Given the description of an element on the screen output the (x, y) to click on. 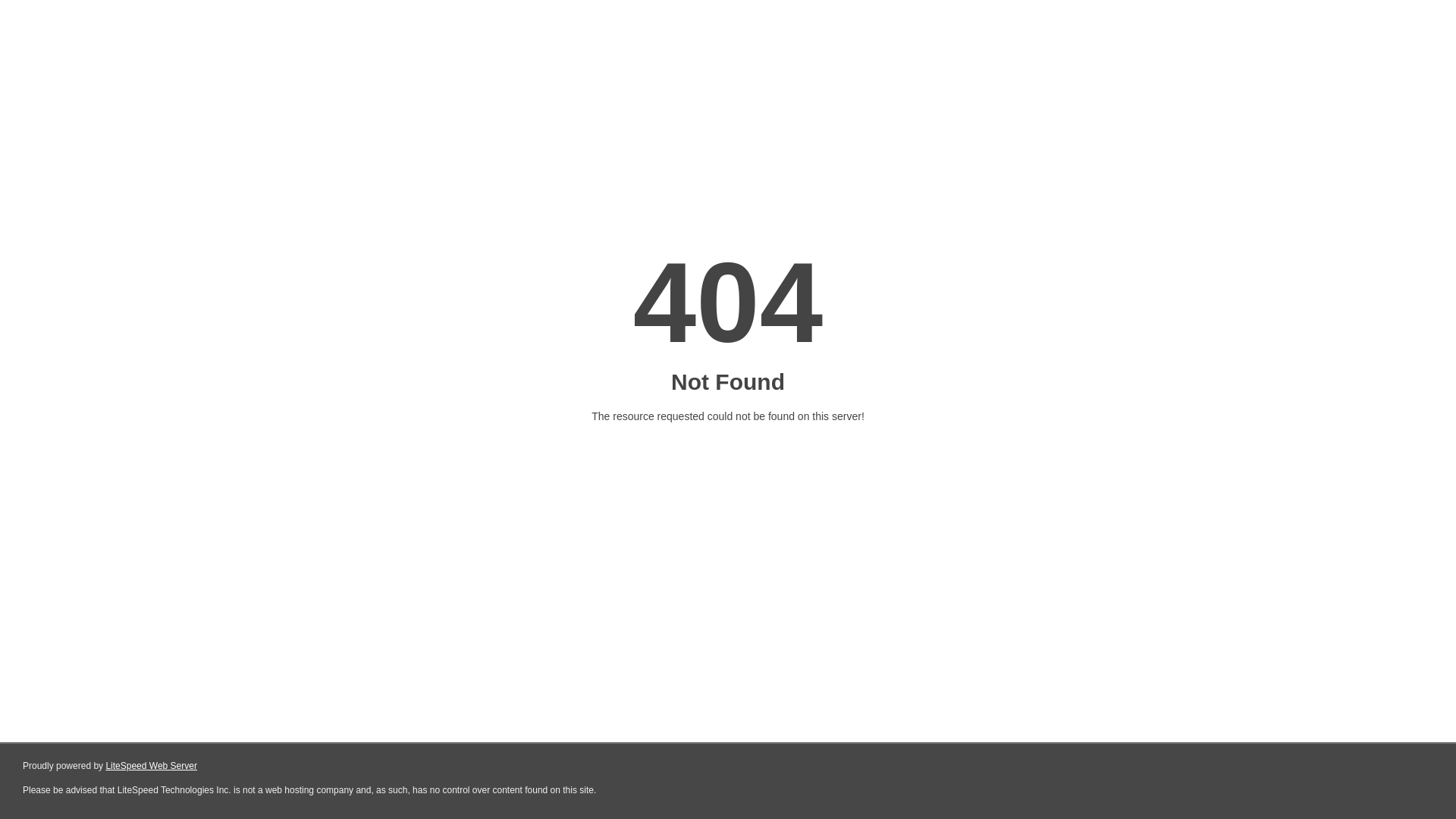
LiteSpeed Web Server Element type: text (151, 765)
